Given the description of an element on the screen output the (x, y) to click on. 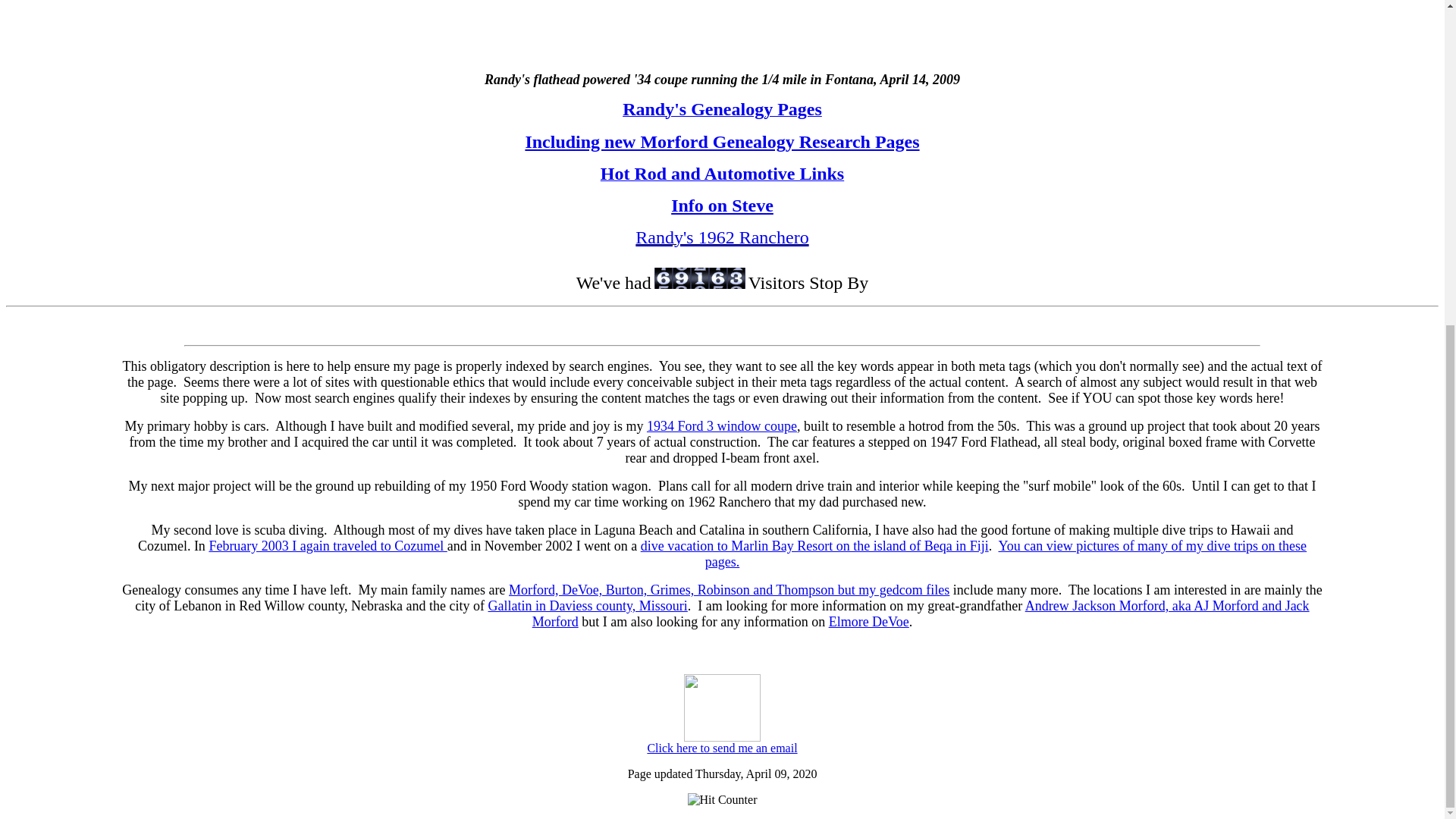
Andrew Jackson Morford, aka AJ Morford and Jack Morford (920, 613)
1934 Ford 3 window coupe (721, 426)
Info on Steve (722, 205)
Randy's Genealogy Pages (722, 110)
Gallatin in Daviess county, Missouri (587, 605)
February 2003 I again traveled to Cozumel (327, 545)
Including new Morford Genealogy Research Pages (721, 141)
